Given the description of an element on the screen output the (x, y) to click on. 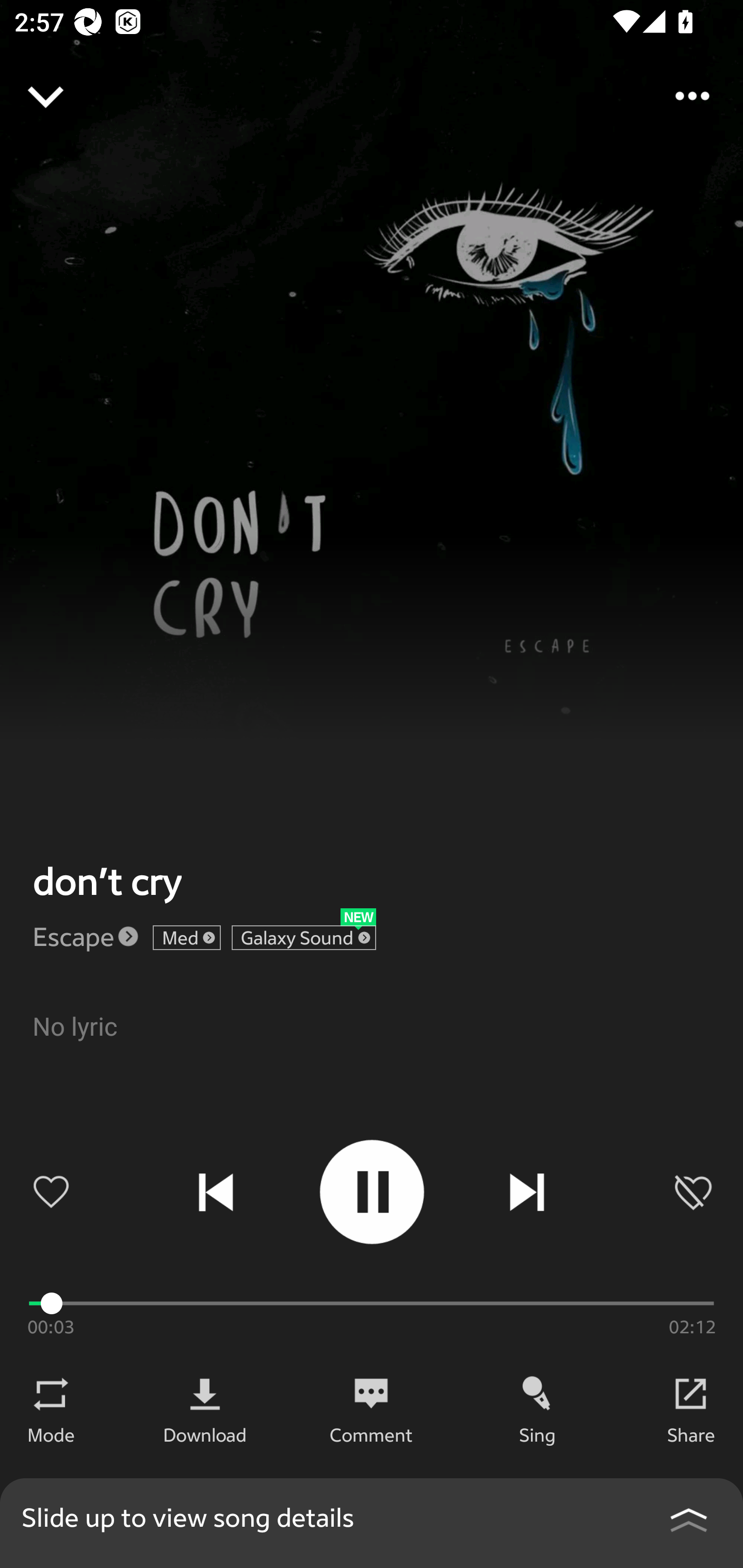
don’t cry (106, 881)
Escape (73, 935)
Med (186, 937)
Galaxy Sound (303, 937)
No lyric (371, 1048)
Mode (51, 1434)
Download (204, 1434)
Comment (370, 1434)
Sing (537, 1434)
Share (691, 1434)
Slide up to view song details (371, 1523)
